Given the description of an element on the screen output the (x, y) to click on. 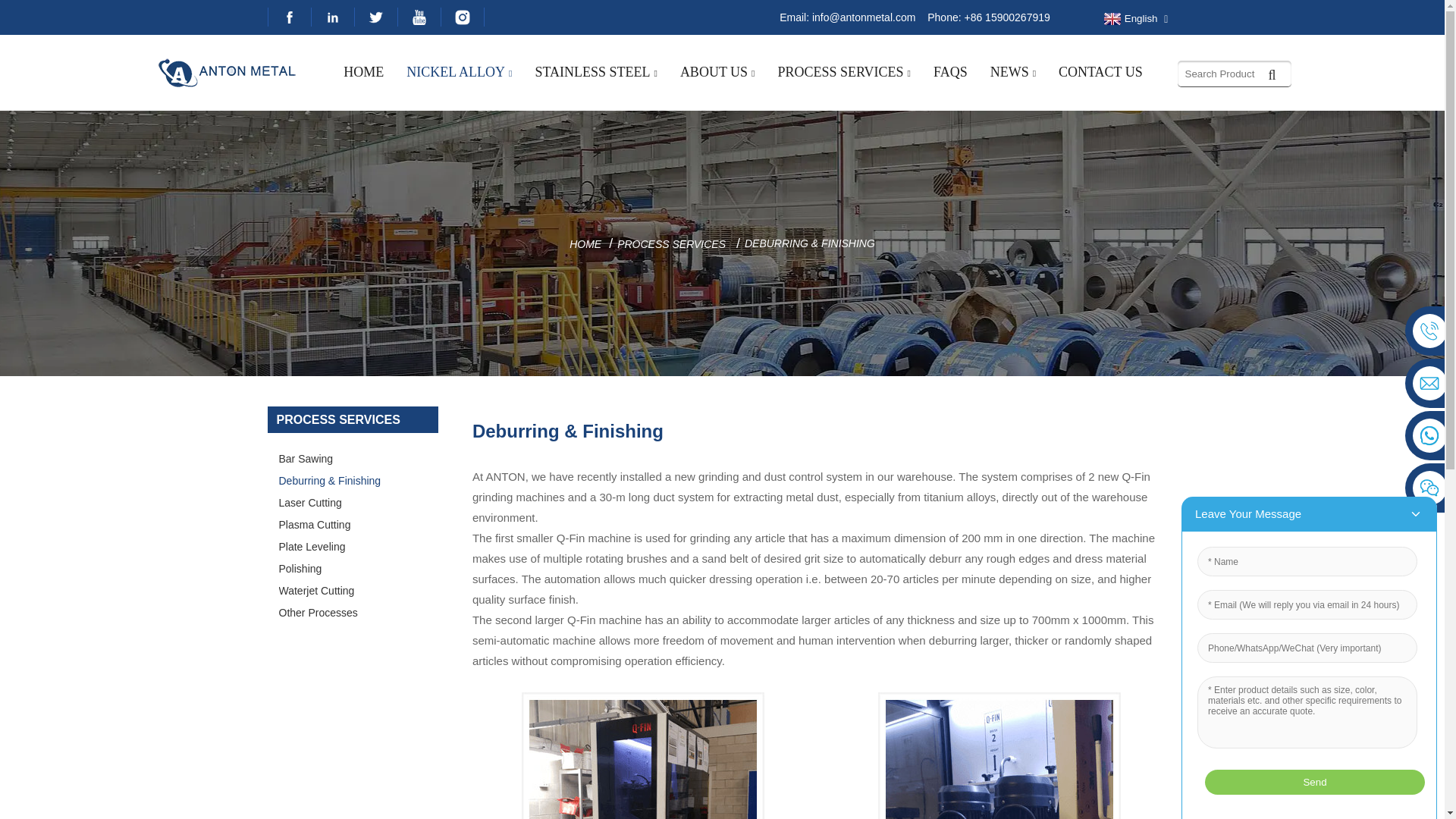
English (1128, 19)
